Given the description of an element on the screen output the (x, y) to click on. 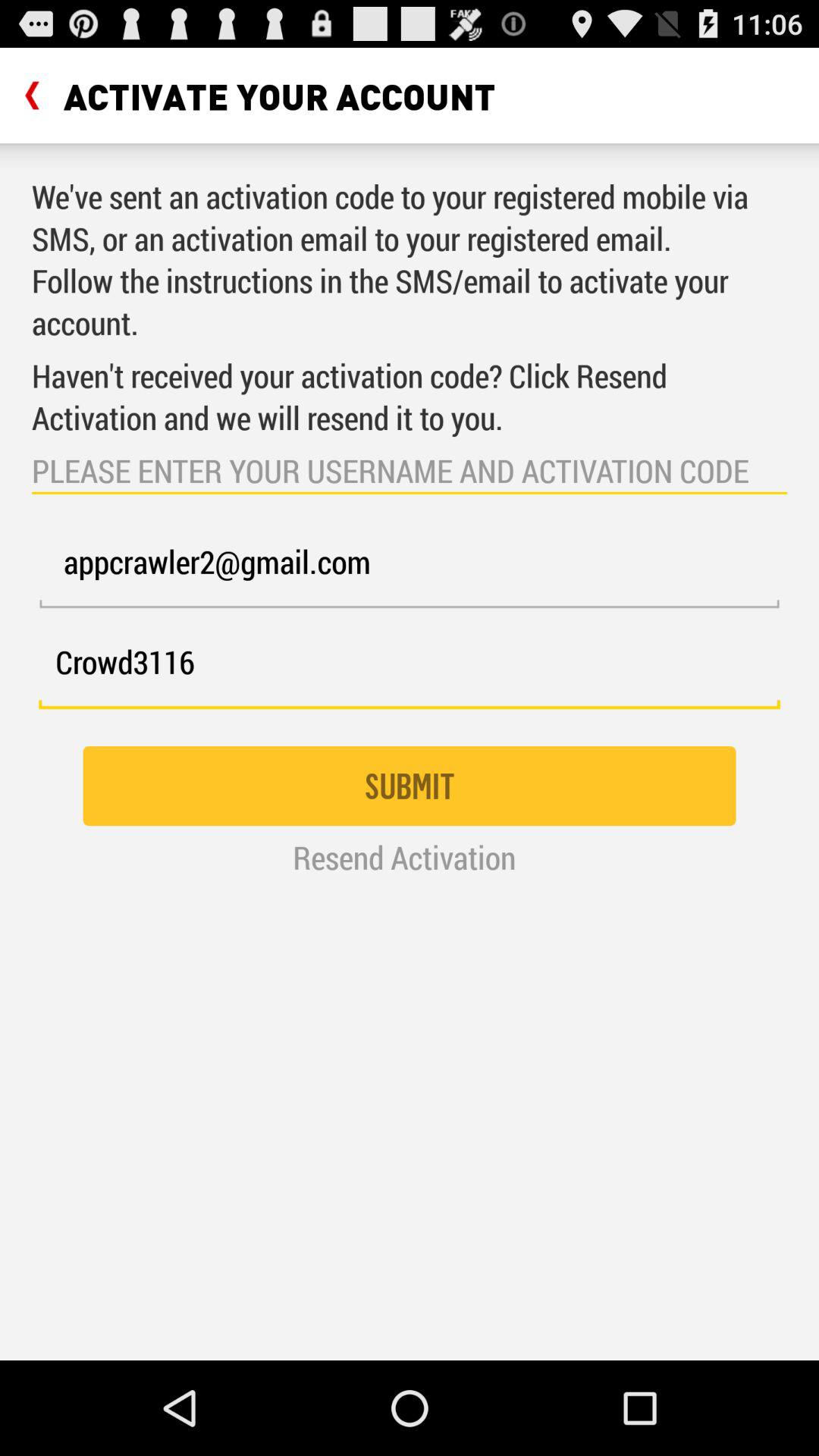
select the icon below crowd3116 item (409, 785)
